Given the description of an element on the screen output the (x, y) to click on. 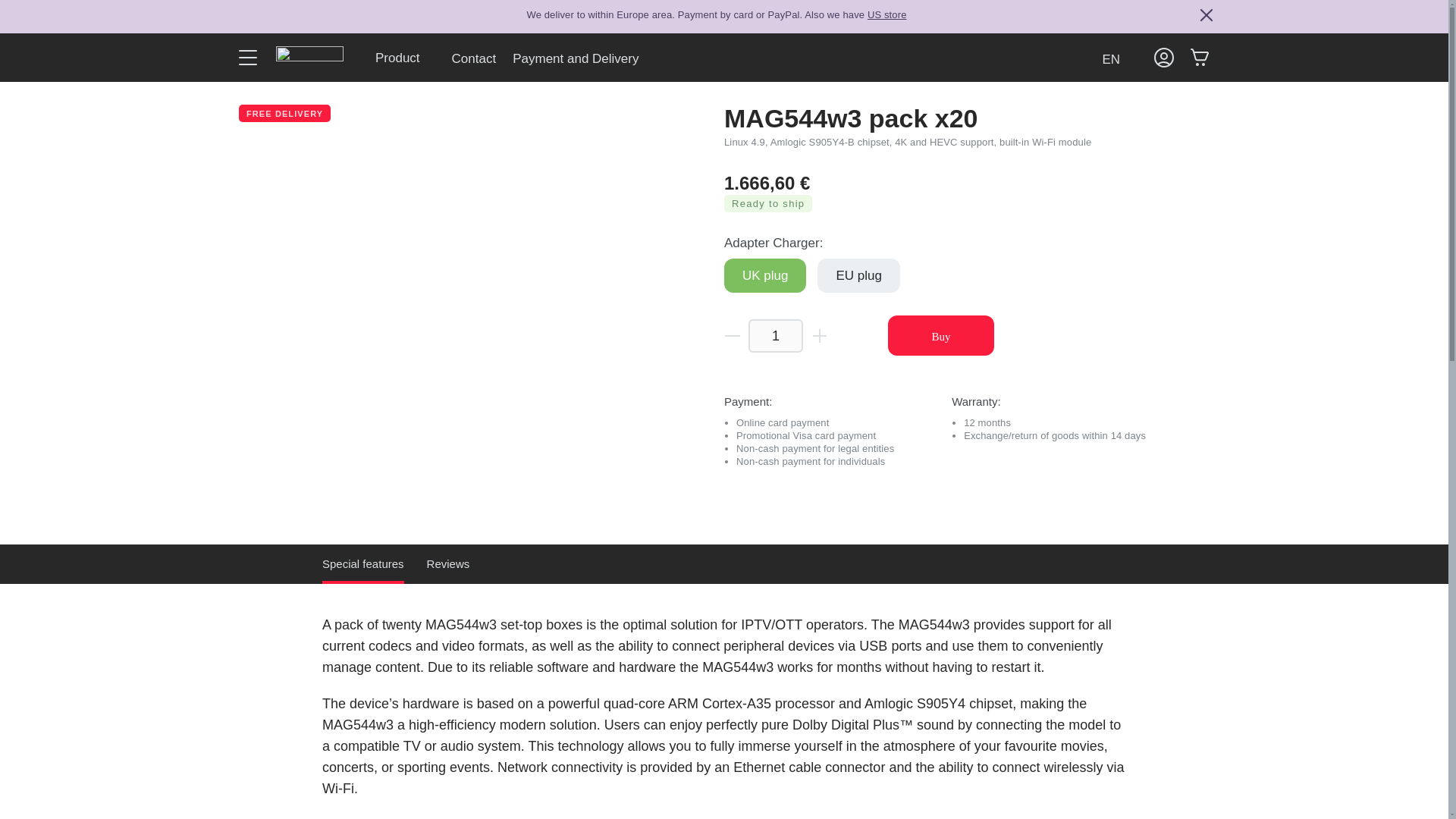
Contact (474, 57)
1 (775, 335)
Payment and Delivery (575, 57)
Product (404, 56)
EN (1117, 57)
US store (887, 16)
